Given the description of an element on the screen output the (x, y) to click on. 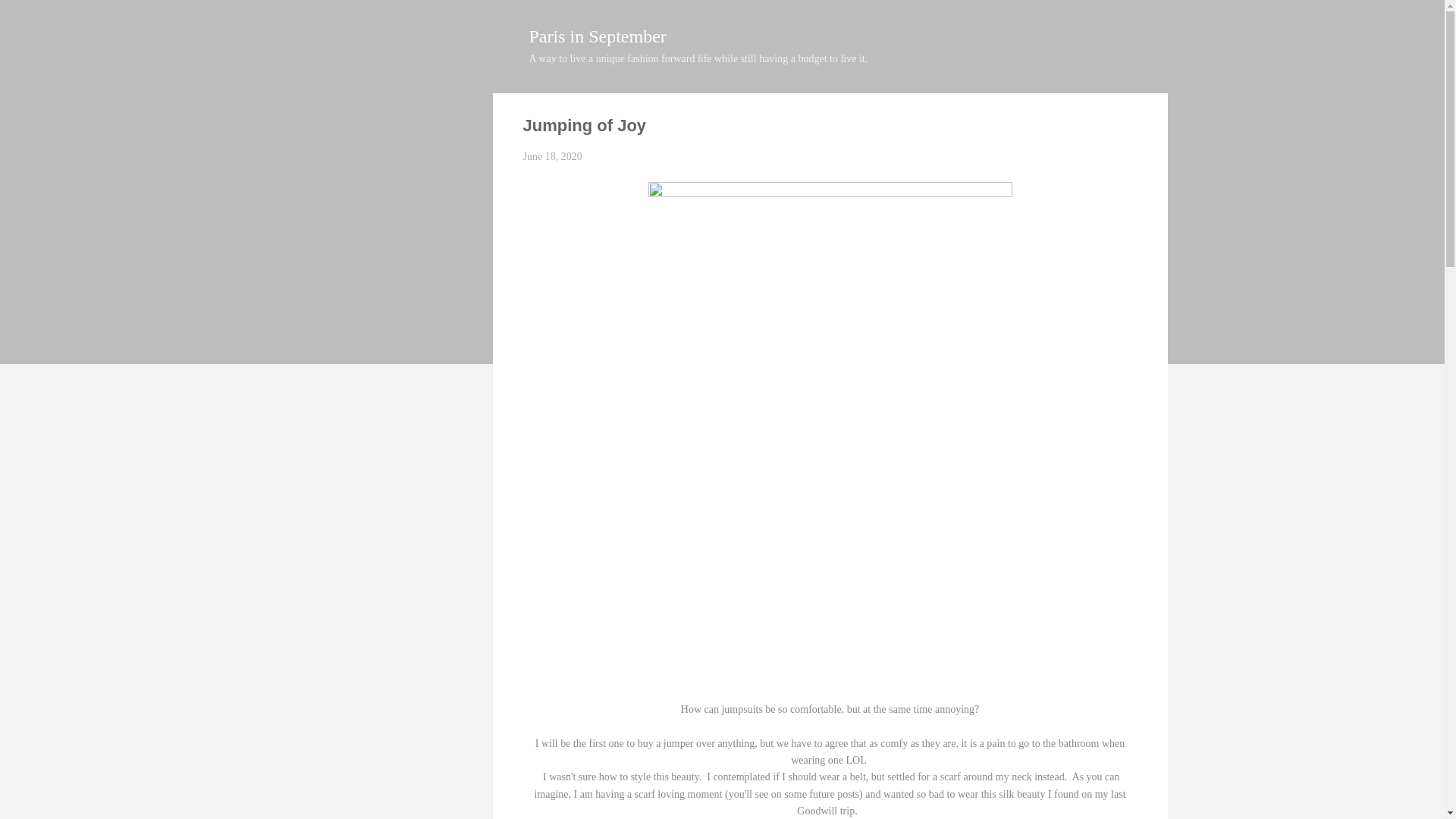
Paris in September (597, 35)
Search (28, 18)
permanent link (552, 156)
June 18, 2020 (552, 156)
